Given the description of an element on the screen output the (x, y) to click on. 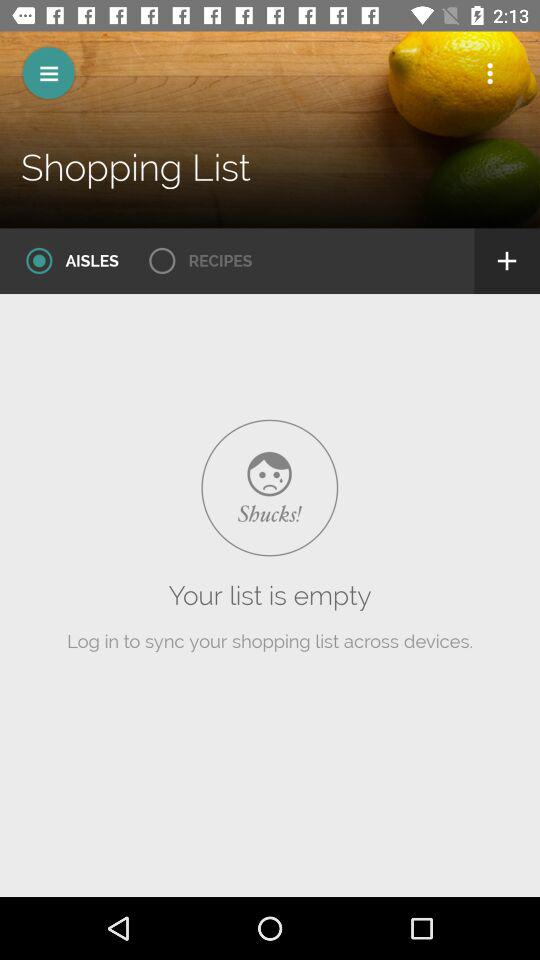
expand the menu (48, 72)
